Given the description of an element on the screen output the (x, y) to click on. 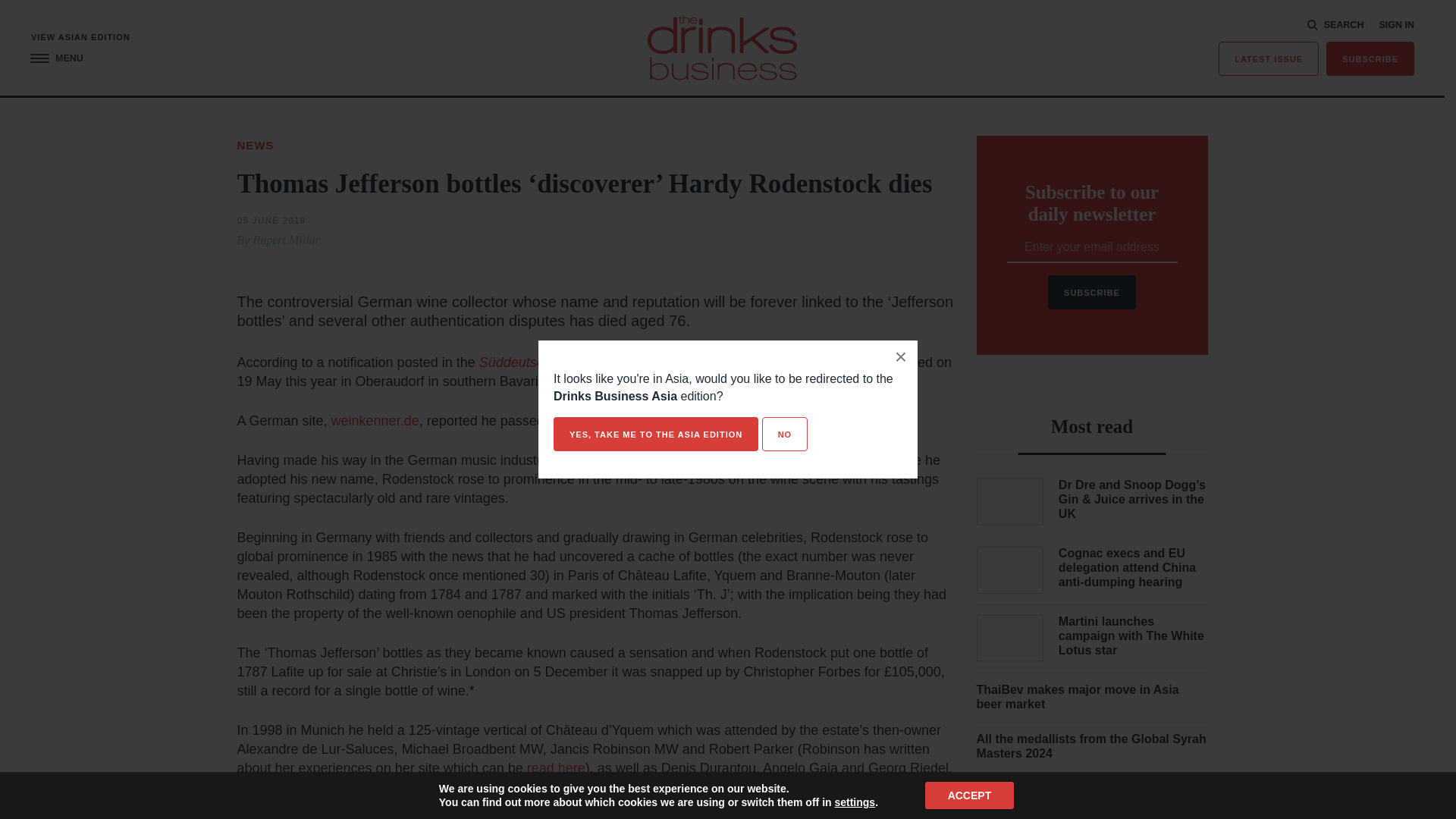
YES, TAKE ME TO THE ASIA EDITION (655, 433)
The Drinks Business (721, 47)
VIEW ASIAN EDITION (80, 37)
SIGN IN (1395, 25)
NO (784, 433)
SUBSCRIBE (1369, 58)
LATEST ISSUE (1268, 58)
